Given the description of an element on the screen output the (x, y) to click on. 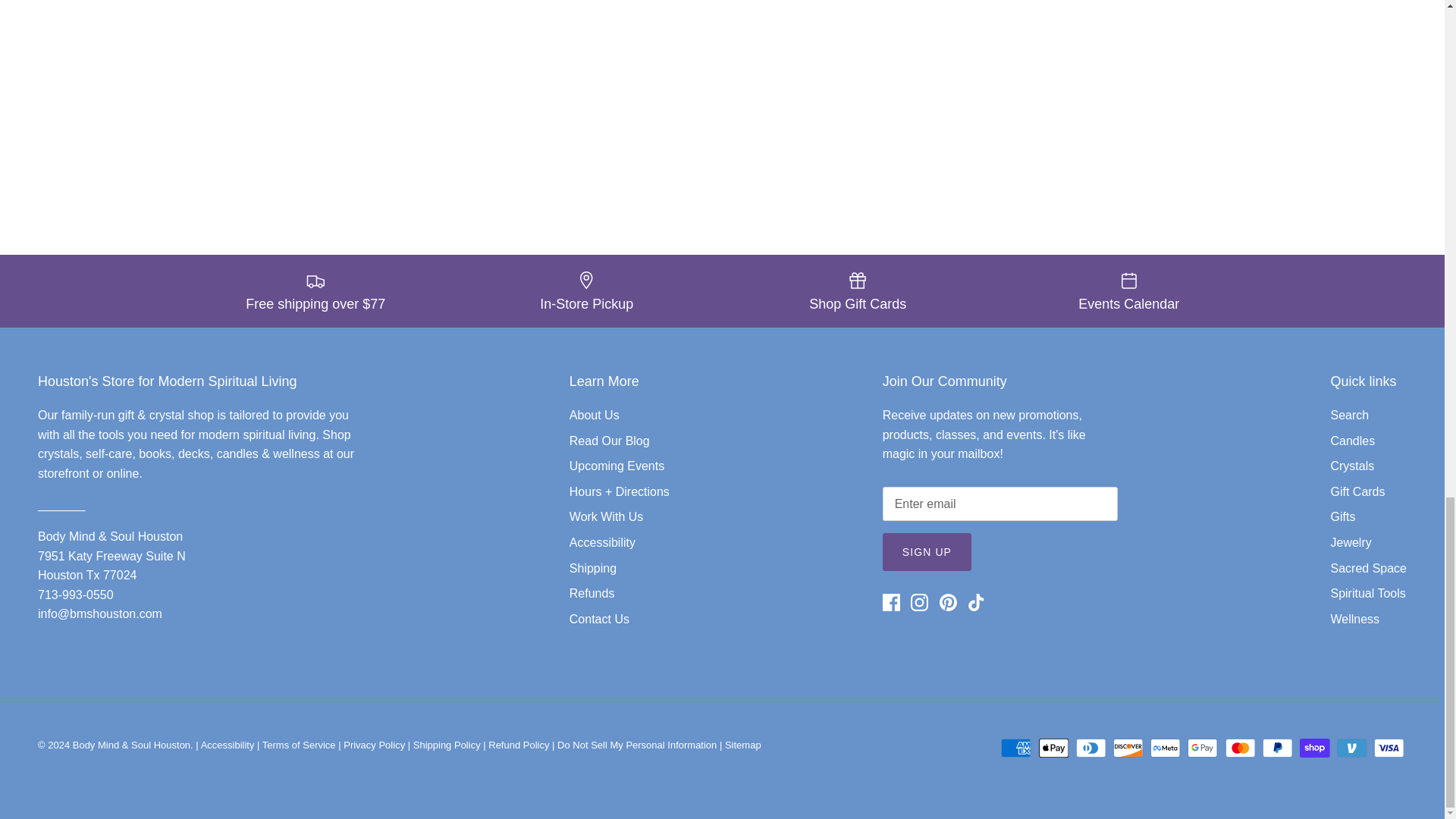
Pinterest (947, 601)
Facebook (890, 601)
Apple Pay (1053, 747)
Discover (1127, 747)
Instagram (919, 601)
American Express (1015, 747)
Google Pay (1202, 747)
Diners Club (1090, 747)
Meta Pay (1165, 747)
